Given the description of an element on the screen output the (x, y) to click on. 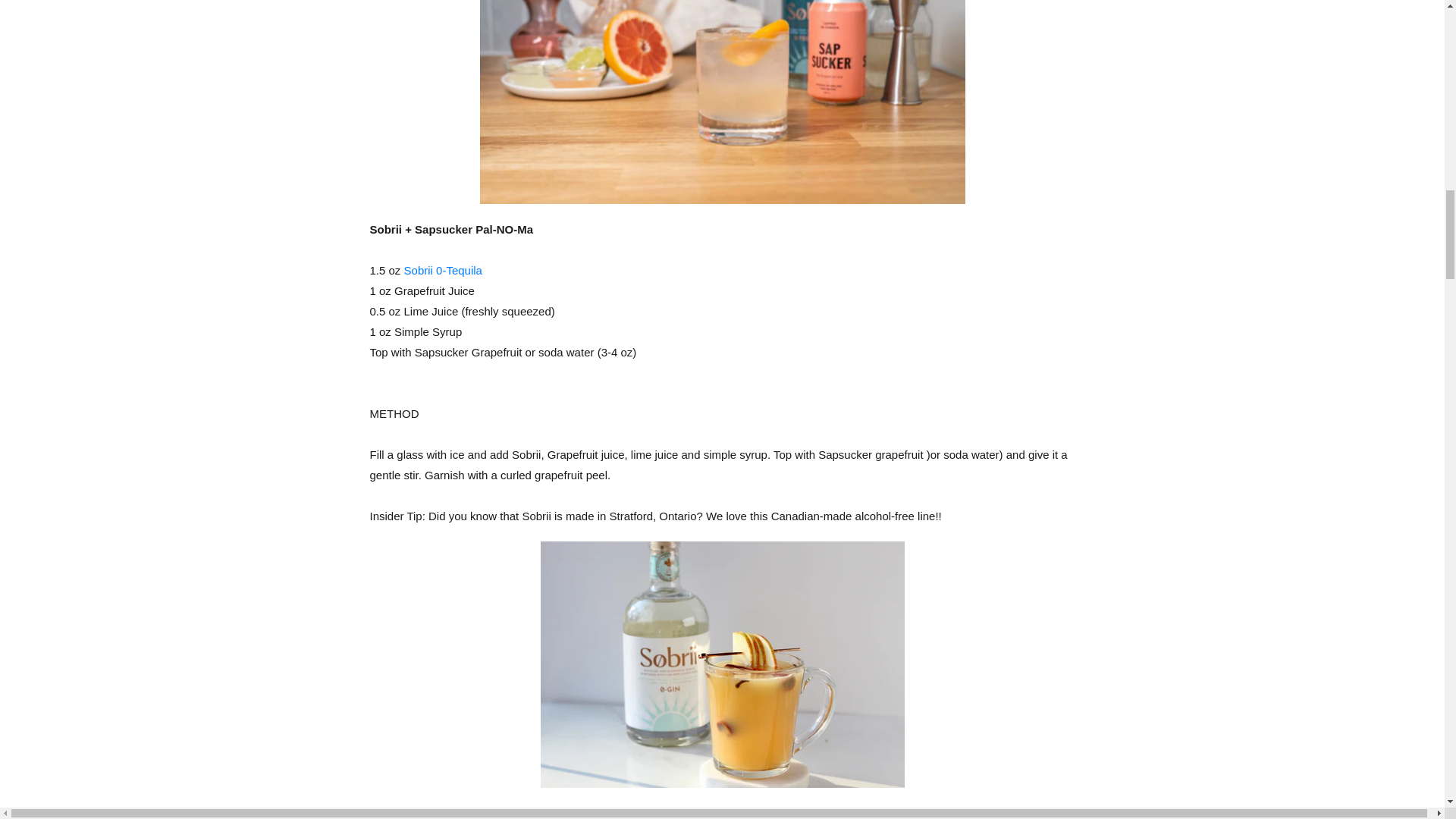
Sobrii 0-Tequila (442, 269)
